Given the description of an element on the screen output the (x, y) to click on. 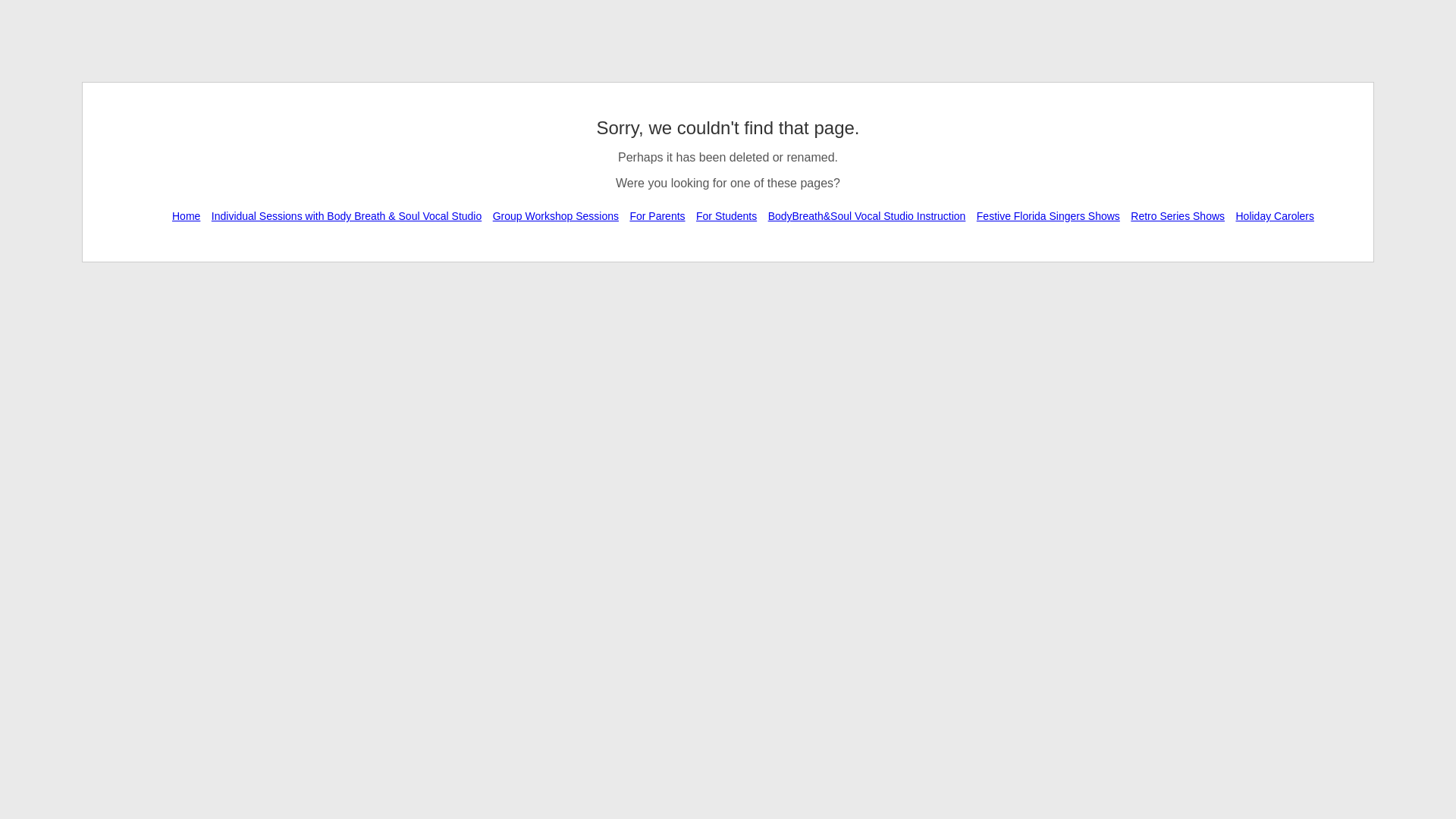
Festive Florida Singers Shows (1048, 215)
Group Workshop Sessions (556, 215)
Holiday Carolers (1274, 215)
Home (185, 215)
For Students (726, 215)
For Parents (657, 215)
Retro Series Shows (1177, 215)
